Given the description of an element on the screen output the (x, y) to click on. 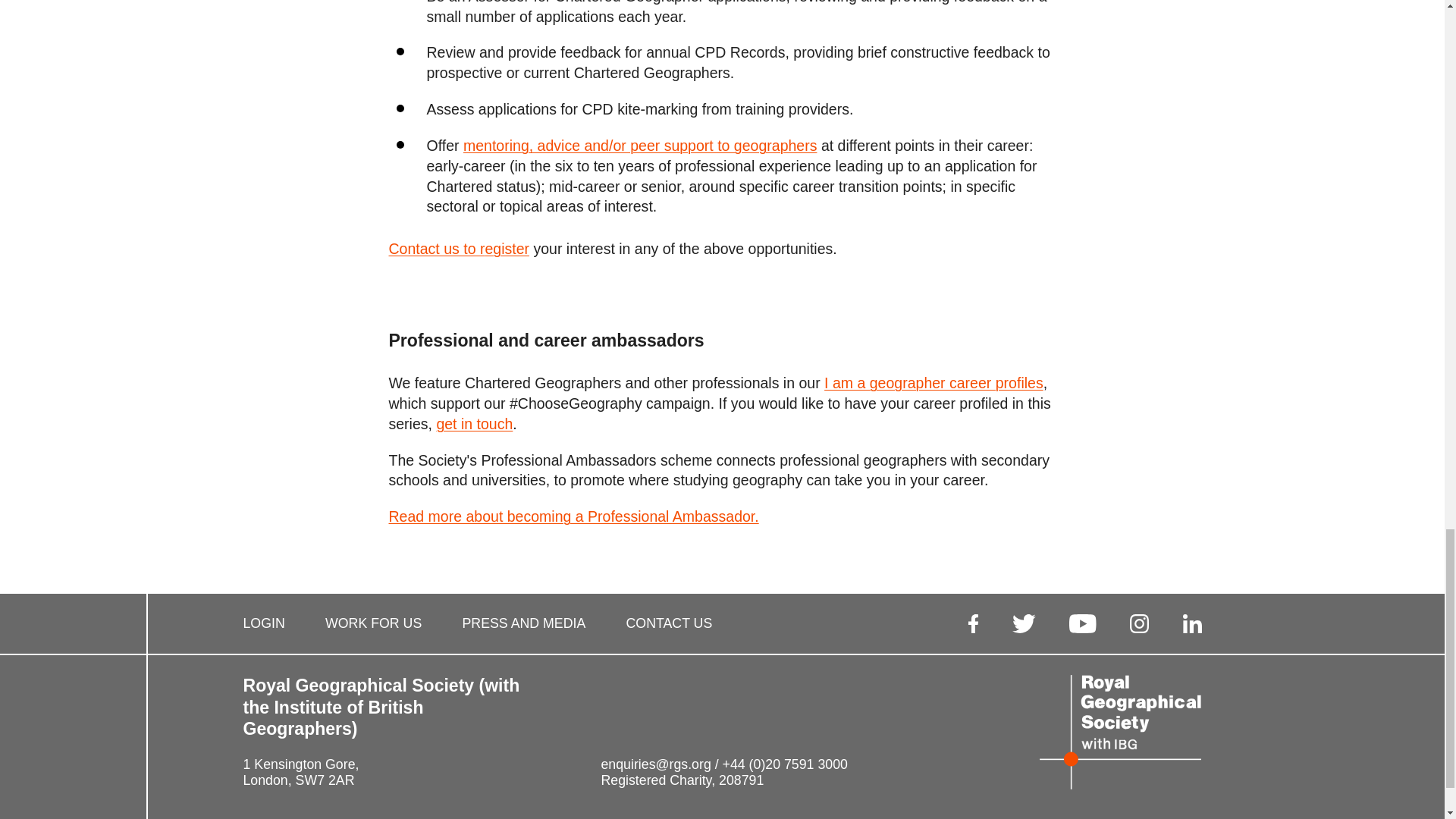
LinkedIn (1192, 623)
Professional Geography Ambassadors (573, 516)
Facebook (973, 623)
Twitter (1023, 623)
YouTube (1082, 623)
I am a geographer (933, 383)
Instagram (1138, 623)
Mentoring network (639, 145)
